Given the description of an element on the screen output the (x, y) to click on. 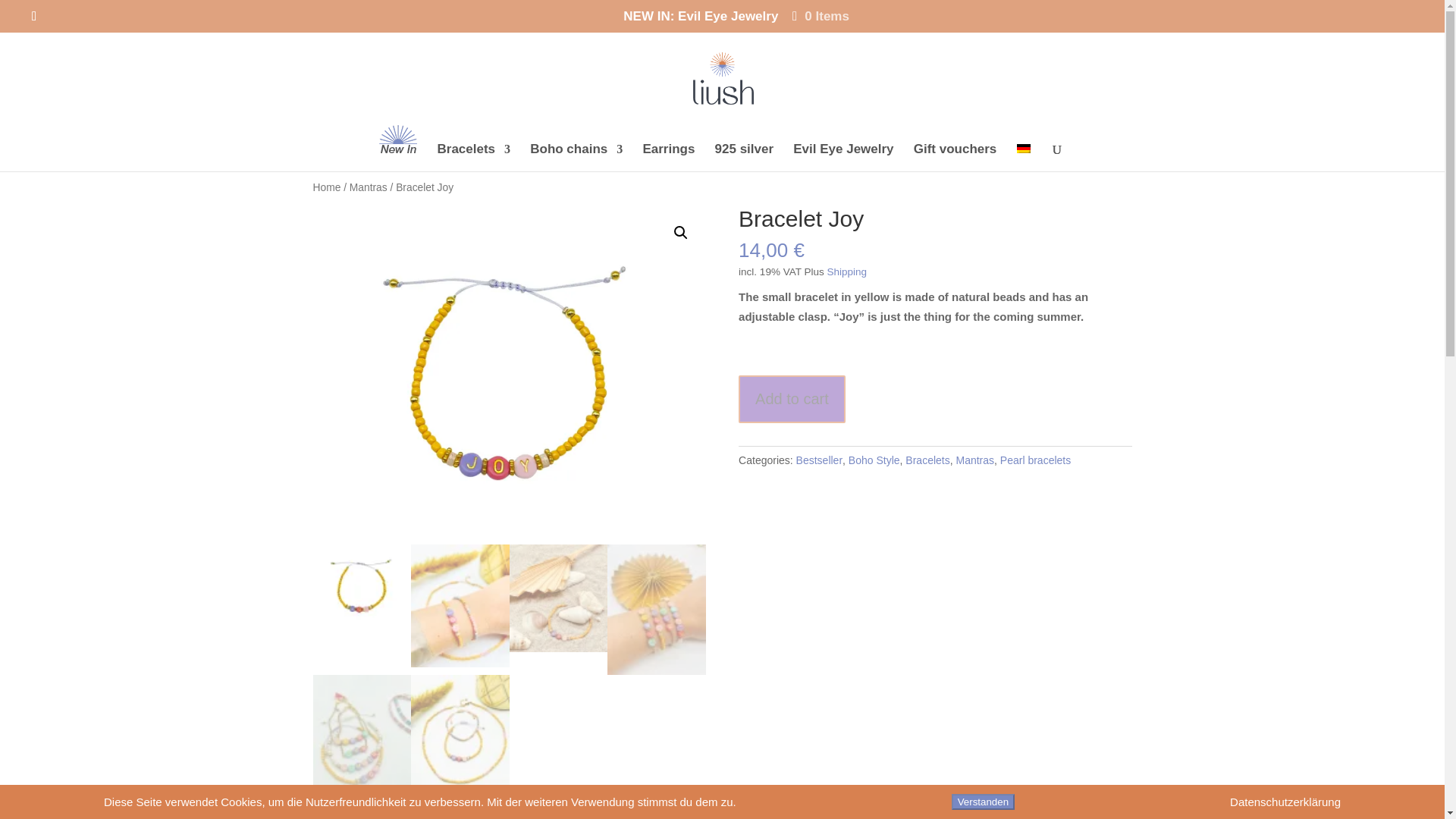
Gift vouchers (955, 157)
925 silver (744, 157)
0 Items (818, 16)
Earrings (668, 157)
armband-joy (508, 375)
Boho chains (576, 157)
NEW IN: Evil Eye Jewelry (700, 20)
Evil Eye Jewelry (843, 157)
Bracelets (473, 157)
